Given the description of an element on the screen output the (x, y) to click on. 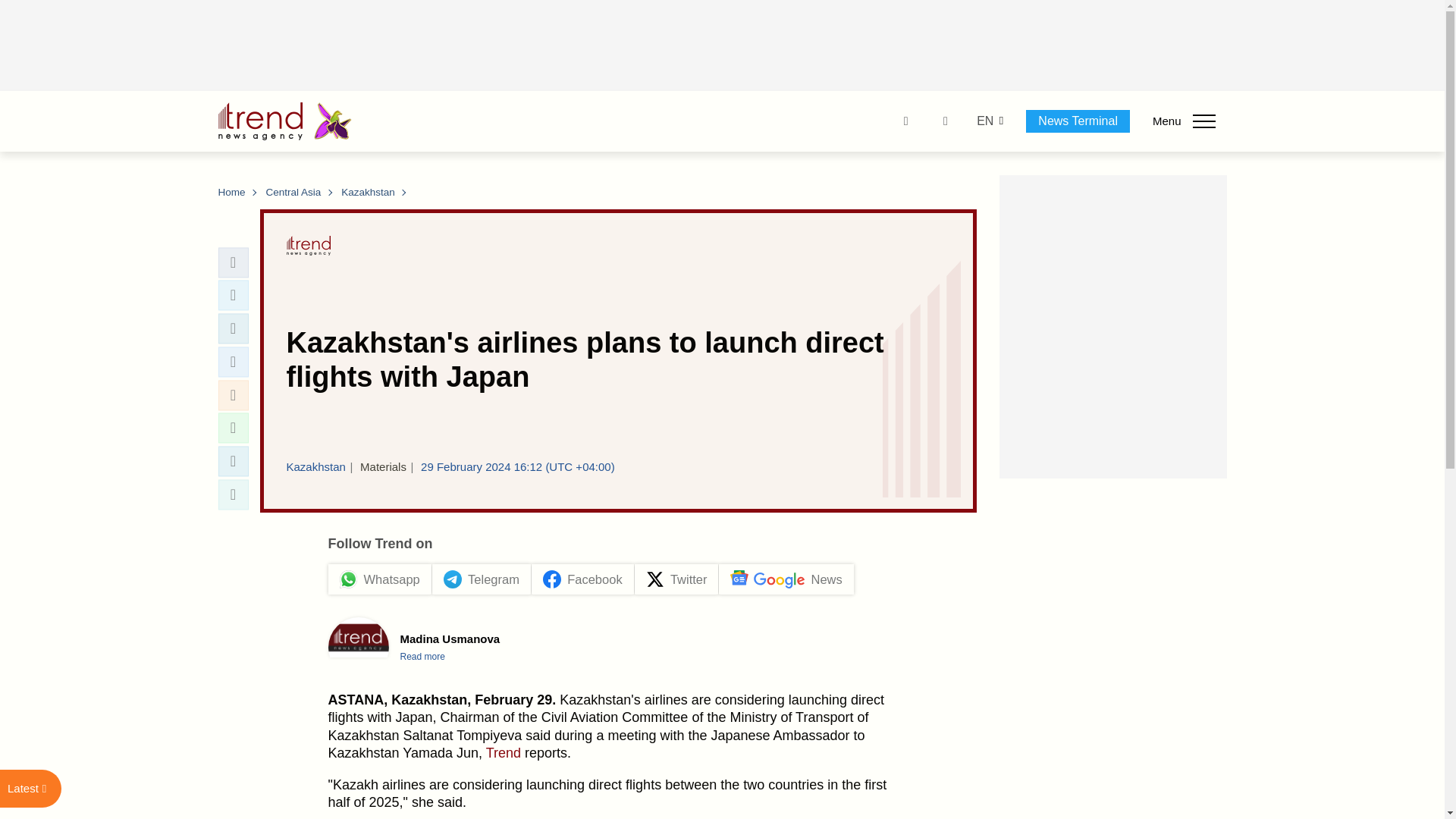
EN (984, 121)
News Terminal (1077, 120)
English (984, 121)
